Given the description of an element on the screen output the (x, y) to click on. 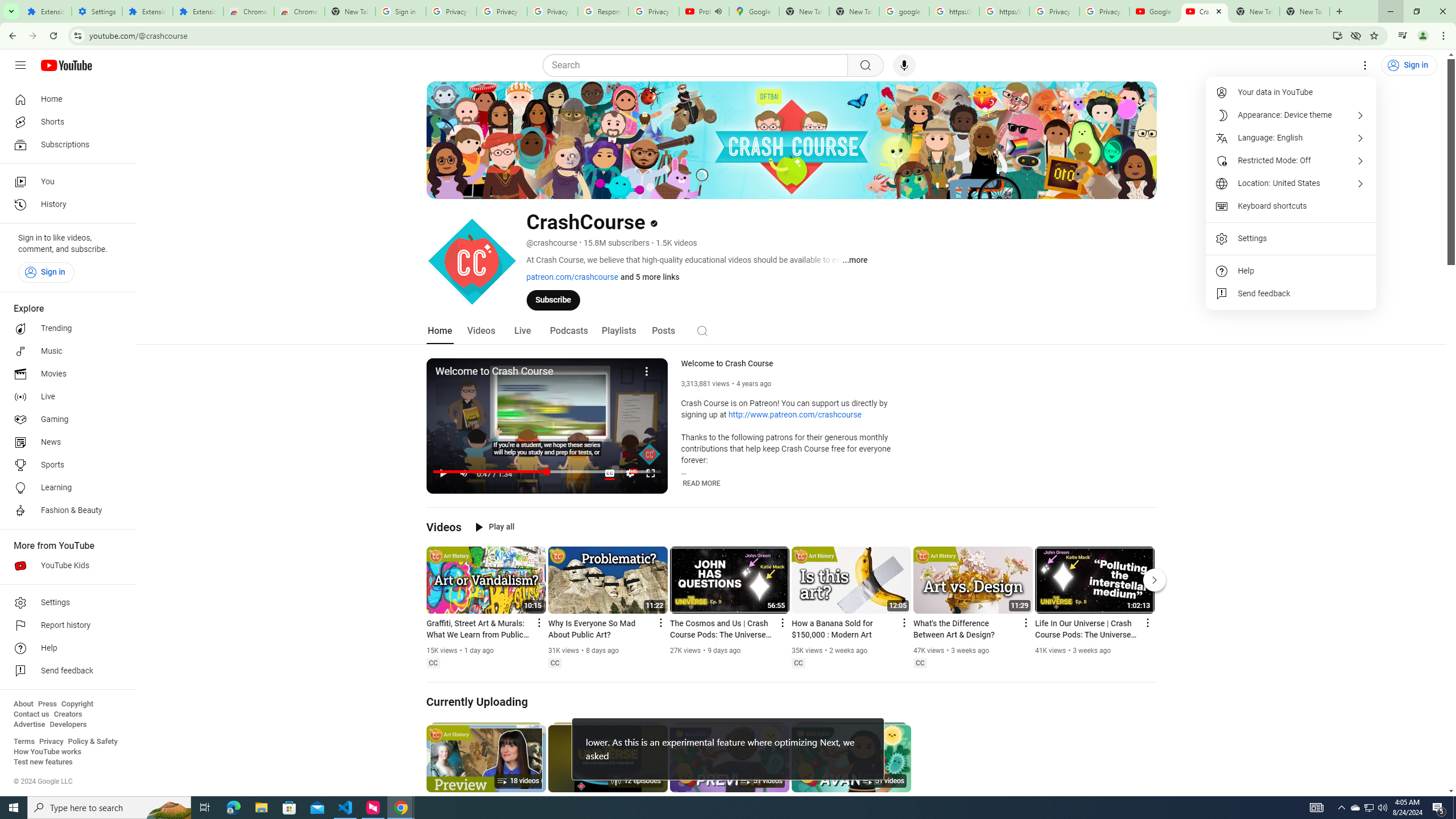
Seek slider (546, 471)
Channel watermark (649, 454)
https://scholar.google.com/ (1004, 11)
Policy & Safety (91, 741)
Chrome Web Store (248, 11)
Closed captions (919, 662)
Subscriptions (64, 144)
Mute (m) (463, 472)
Subscribe (552, 299)
More (647, 370)
